Given the description of an element on the screen output the (x, y) to click on. 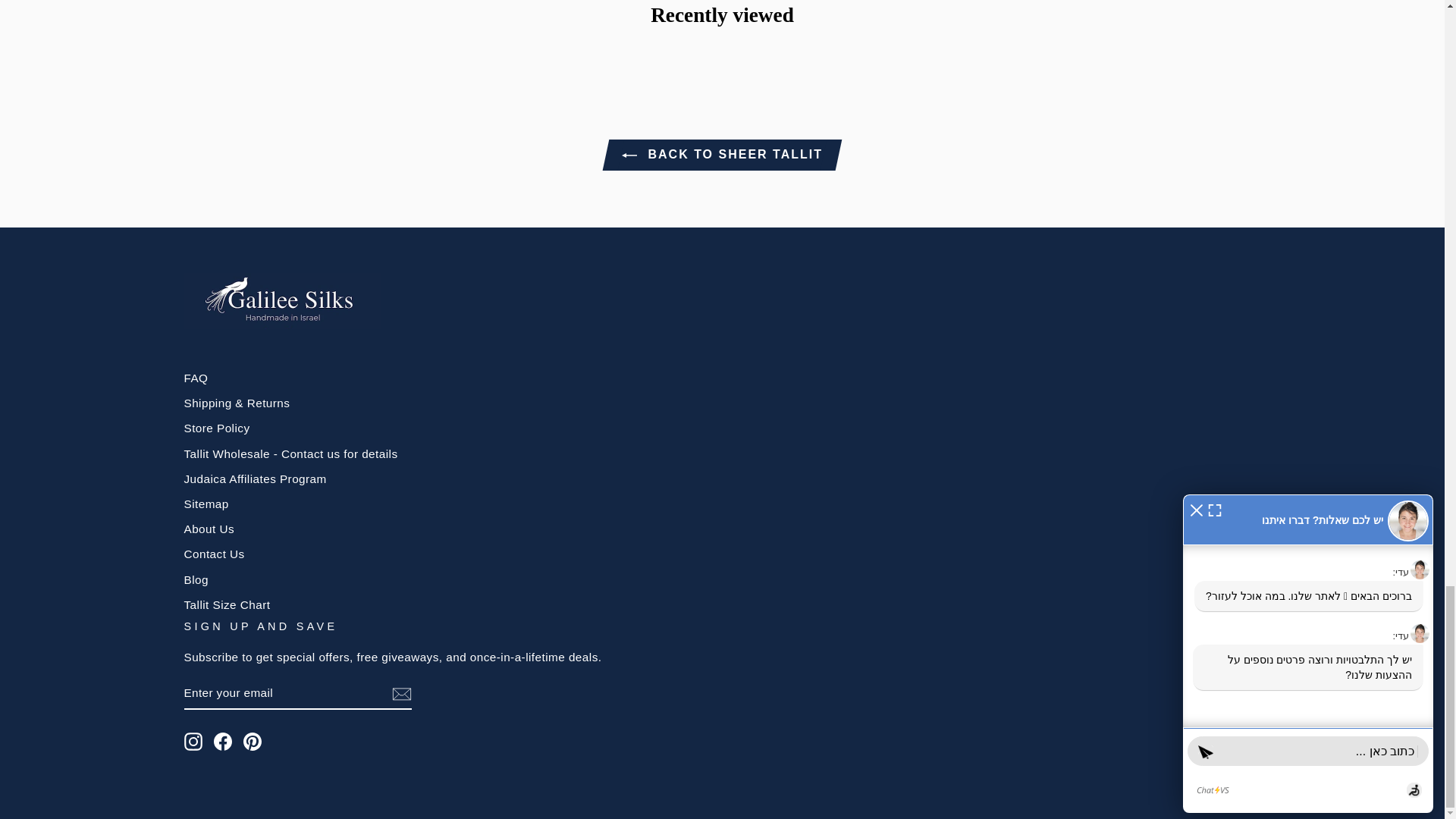
Galilee Silks on Facebook (222, 741)
Galilee Silks on Pinterest (251, 741)
Galilee Silks on Instagram (192, 741)
